Given the description of an element on the screen output the (x, y) to click on. 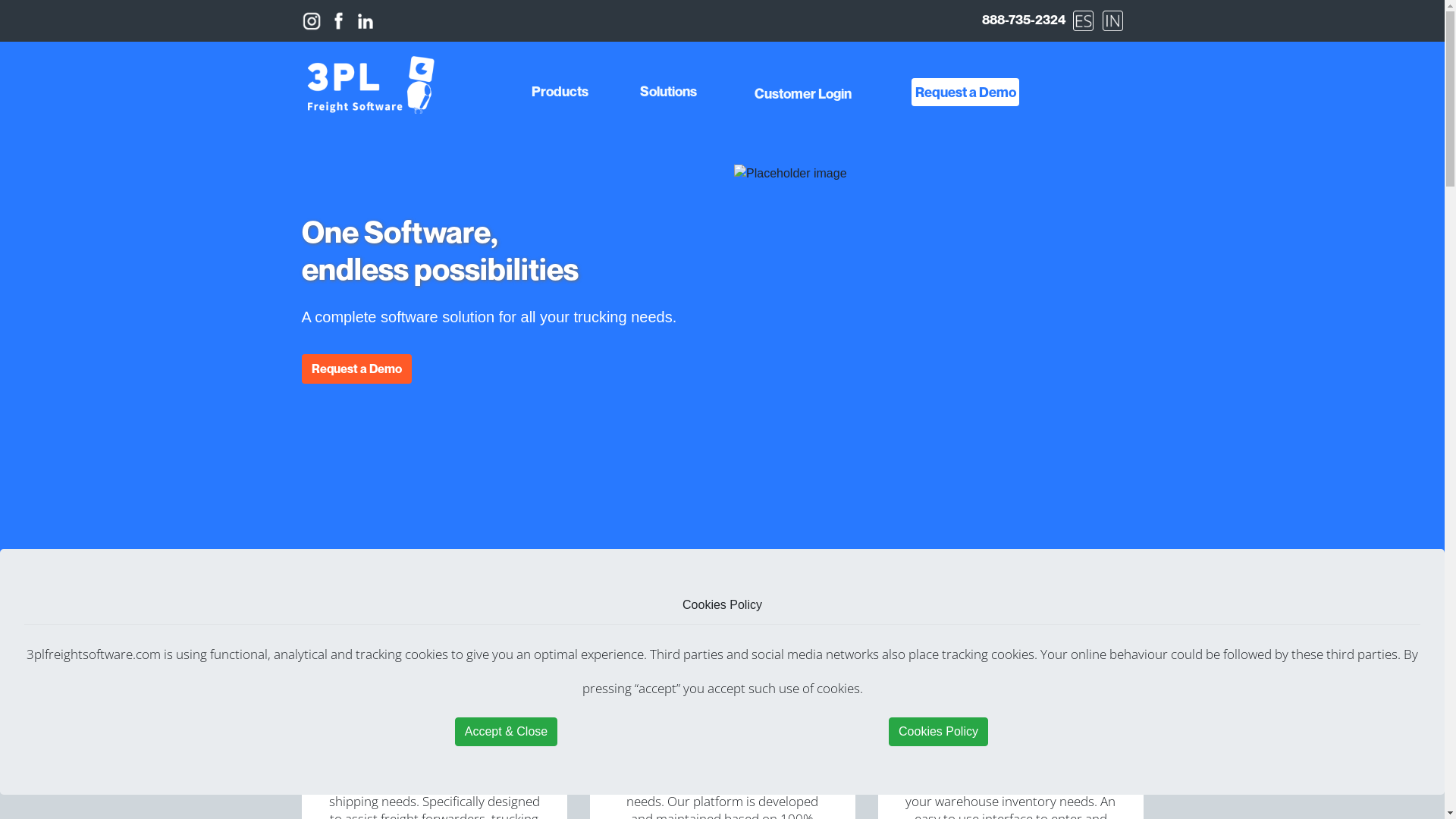
Products Element type: text (559, 92)
Customer Login Element type: text (802, 93)
Request a Demo Element type: text (356, 367)
Accept & Close Element type: text (506, 731)
Cookies Policy Element type: text (938, 731)
Solutions Element type: text (668, 92)
Request a Demo Element type: text (965, 92)
888-735-2324 Element type: text (1026, 25)
